Given the description of an element on the screen output the (x, y) to click on. 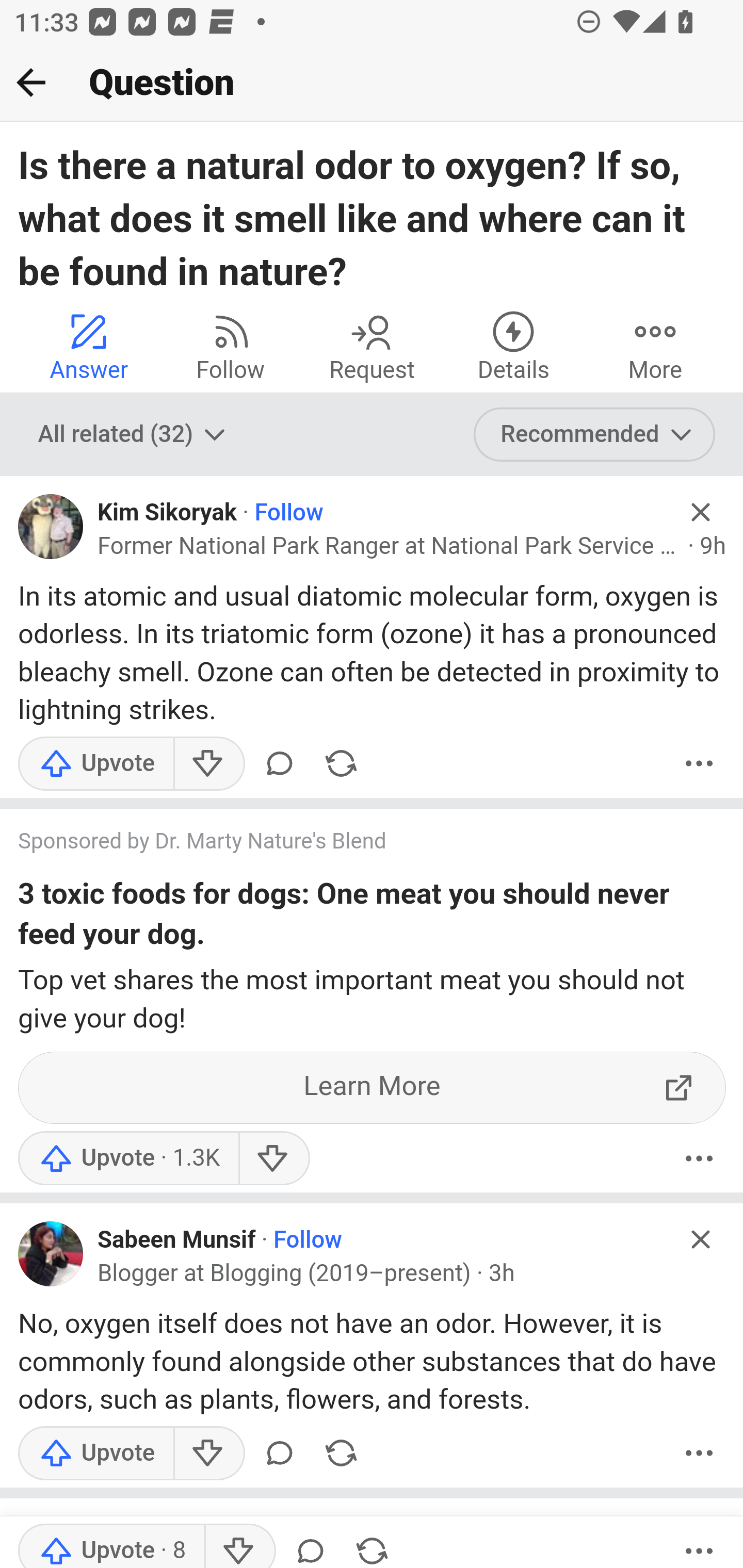
Back (30, 82)
Answer (88, 345)
Follow (230, 345)
Request (371, 345)
Details (513, 345)
More (655, 345)
All related (32) (133, 434)
Recommended (594, 434)
Hide (700, 511)
Profile photo for Kim Sikoryak (50, 526)
Kim Sikoryak (167, 513)
Follow (288, 513)
Upvote (95, 763)
Downvote (208, 763)
Comment (278, 763)
Share (341, 763)
More (699, 763)
Sponsored by Dr. Marty Nature's Blend (352, 842)
Learn More ExternalLink (372, 1087)
Upvote (127, 1158)
Downvote (273, 1158)
More (699, 1158)
Hide (700, 1239)
Profile photo for Sabeen Munsif (50, 1254)
Sabeen Munsif (176, 1240)
Follow (307, 1240)
Upvote (95, 1452)
Downvote (208, 1452)
Comment (278, 1452)
Share (341, 1452)
More (699, 1452)
Upvote (111, 1545)
Downvote (238, 1545)
Comment (310, 1545)
Share (372, 1545)
More (699, 1545)
